Given the description of an element on the screen output the (x, y) to click on. 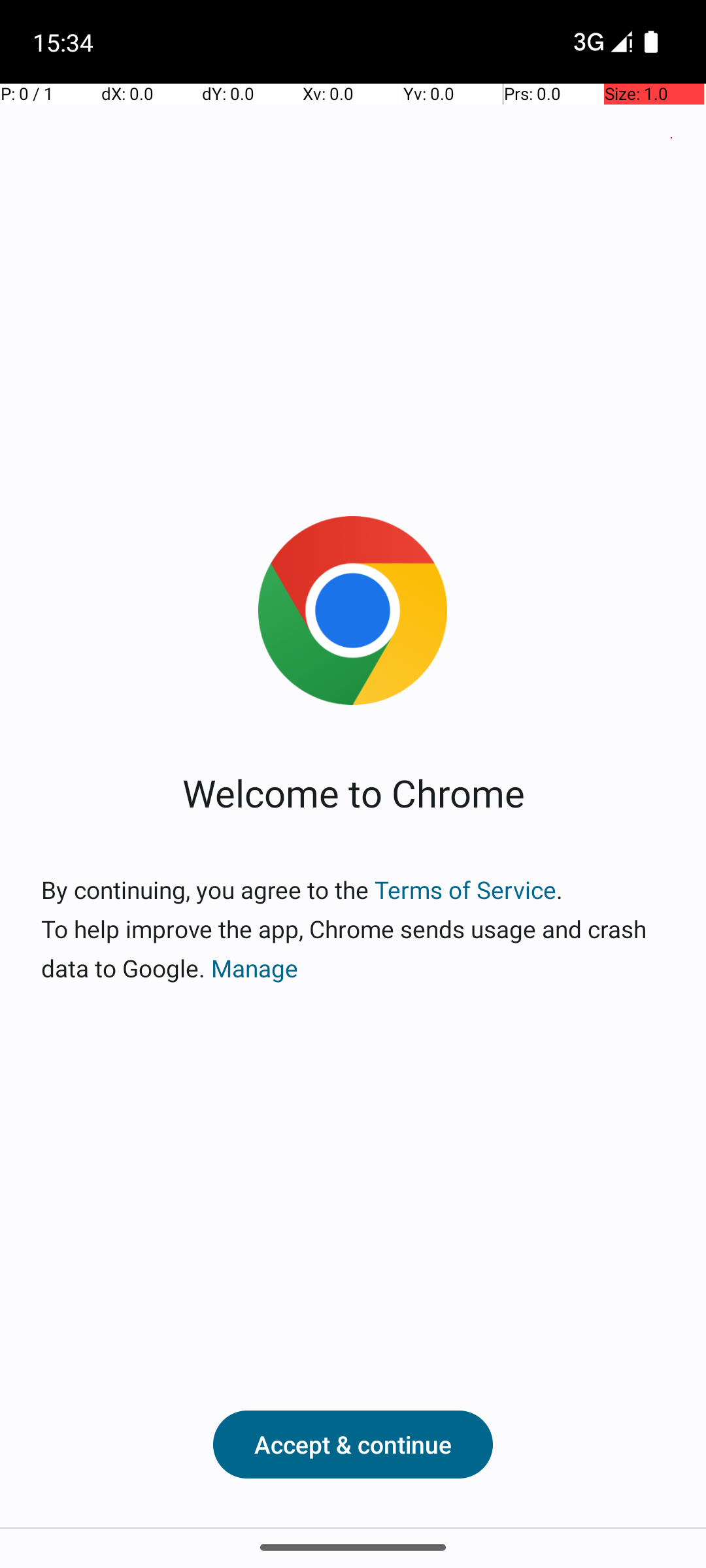
By continuing, you agree to the Terms of Service.
To help improve the app, Chrome sends usage and crash data to Google. Manage Element type: android.widget.TextView (352, 928)
